Given the description of an element on the screen output the (x, y) to click on. 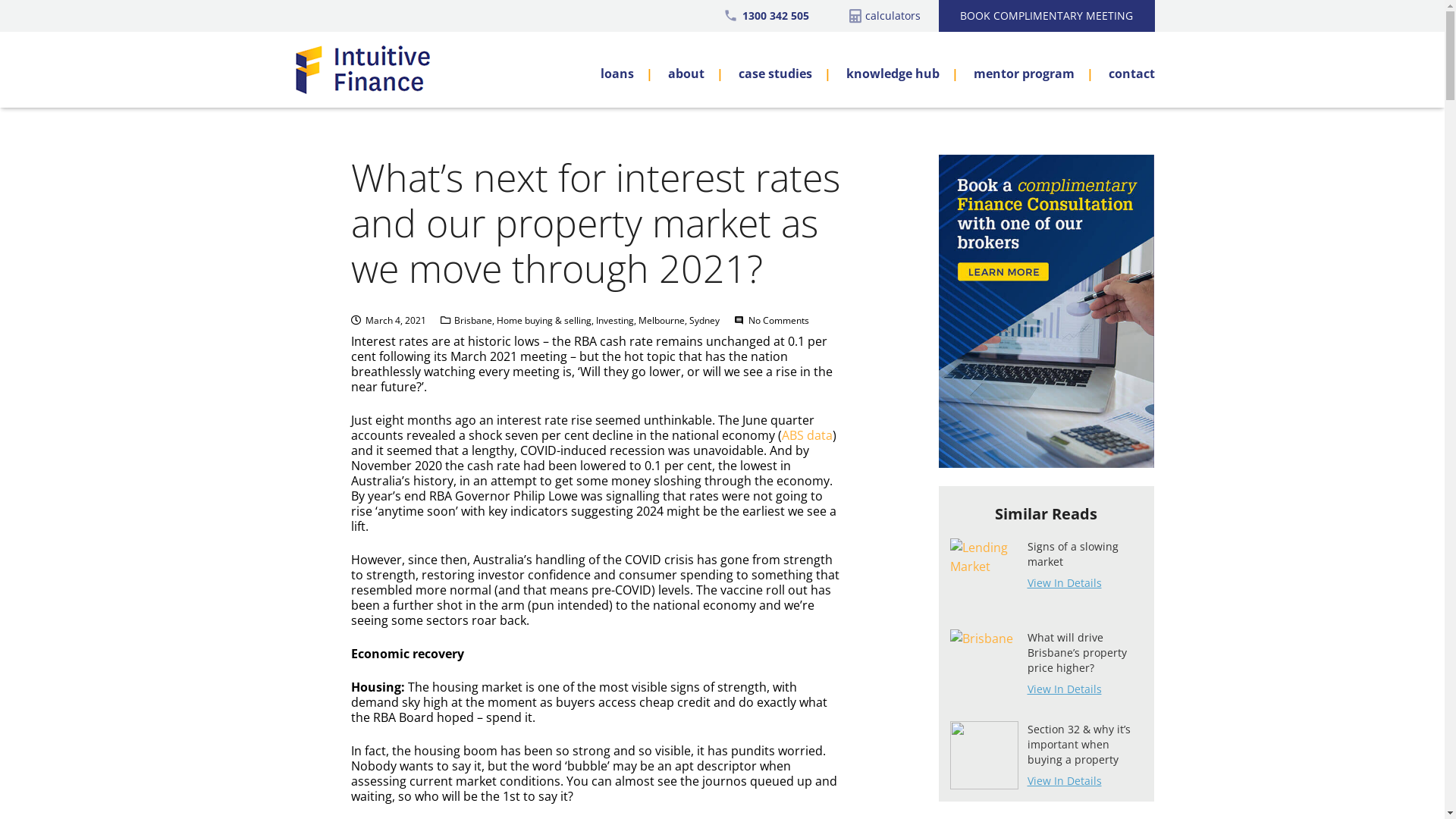
Signs of a slowing market Element type: hover (983, 572)
Melbourne Element type: text (661, 319)
contact Element type: text (1123, 69)
Home buying & selling Element type: text (543, 319)
ABS data Element type: text (806, 434)
mentor program Element type: text (1025, 69)
View In Details Element type: text (1084, 582)
Investing Element type: text (614, 319)
1300 342 505 Element type: text (774, 15)
about Element type: text (687, 69)
Sydney Element type: text (704, 319)
Signs of a slowing market Element type: text (1071, 561)
View In Details Element type: text (1084, 688)
knowledge hub Element type: text (894, 69)
View In Details Element type: text (1084, 780)
loans Element type: text (618, 69)
case studies Element type: text (777, 69)
Brisbane Element type: text (473, 319)
calculators Element type: text (891, 15)
No Comments Element type: text (778, 319)
BOOK COMPLIMENTARY MEETING Element type: text (1046, 15)
